Given the description of an element on the screen output the (x, y) to click on. 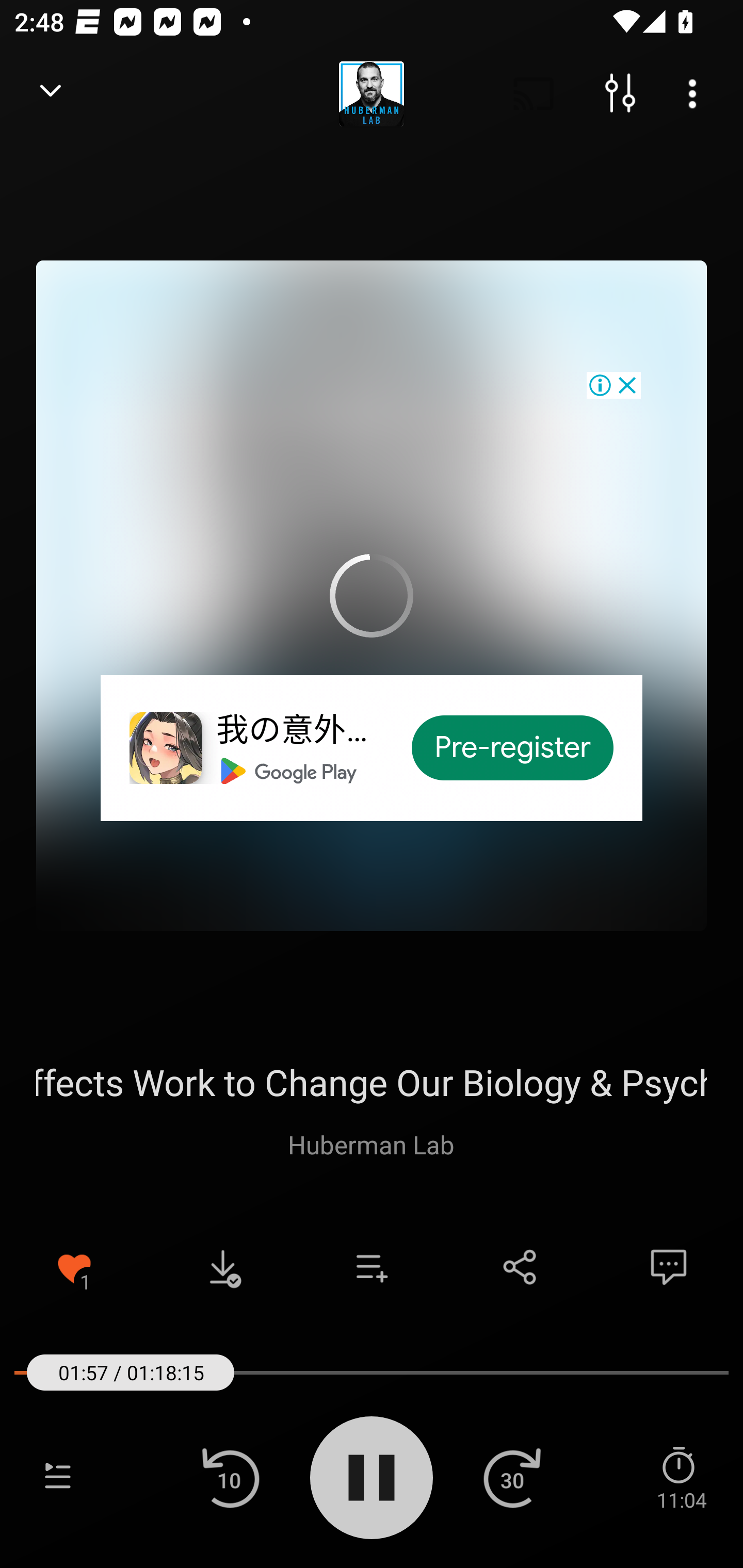
 Back (50, 94)
我の意外… Pre-register Pre-register (371, 595)
Pre-register (512, 747)
Huberman Lab (370, 1144)
Comments (668, 1266)
Remove from Favorites (73, 1266)
Add to playlist (371, 1266)
Share (519, 1266)
Sleep Timer  11:04 (681, 1477)
 Playlist (57, 1477)
